Given the description of an element on the screen output the (x, y) to click on. 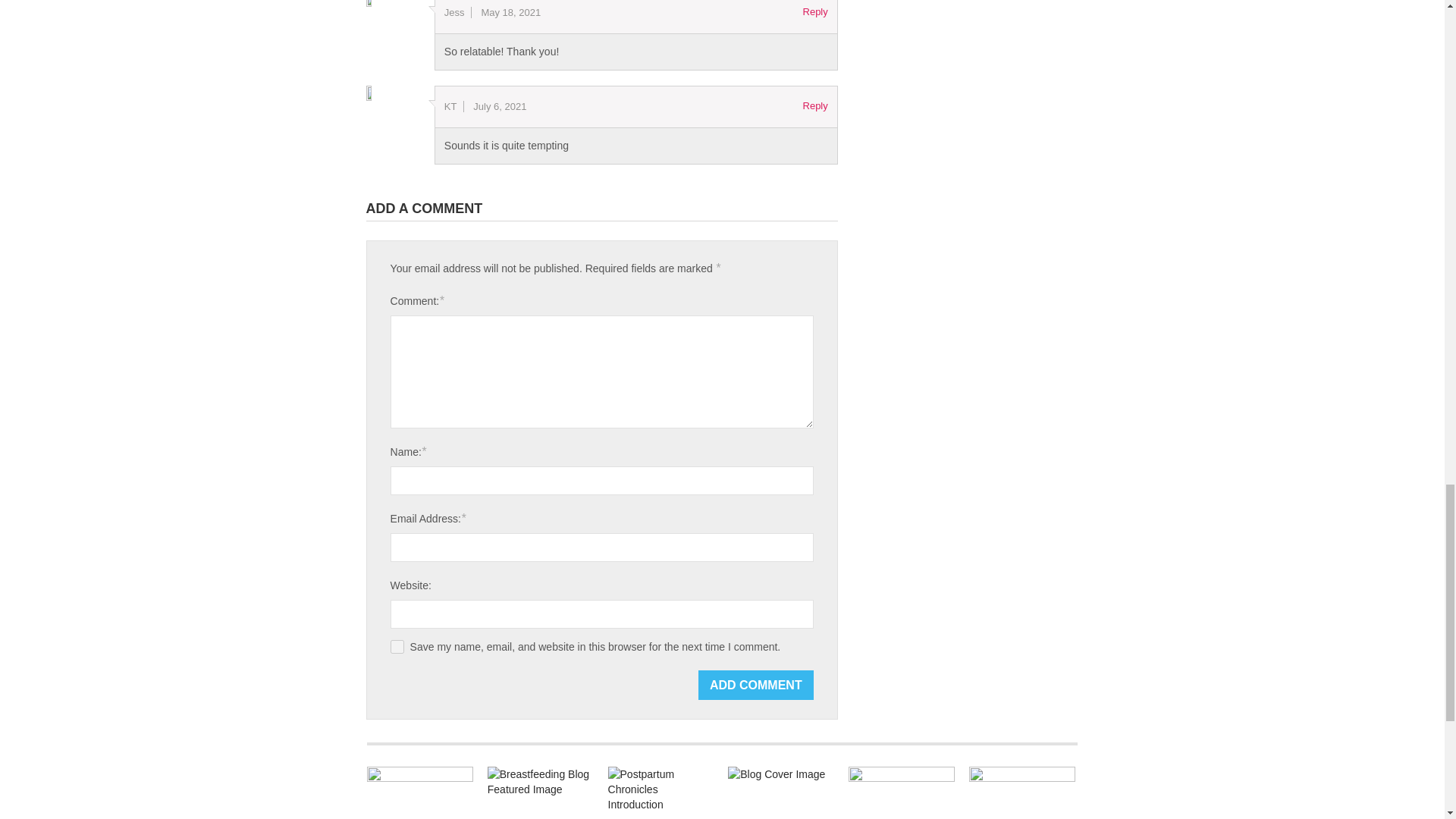
Add Comment (755, 685)
Add Comment (755, 685)
yes (397, 646)
Reply (815, 105)
Reply (815, 12)
